Given the description of an element on the screen output the (x, y) to click on. 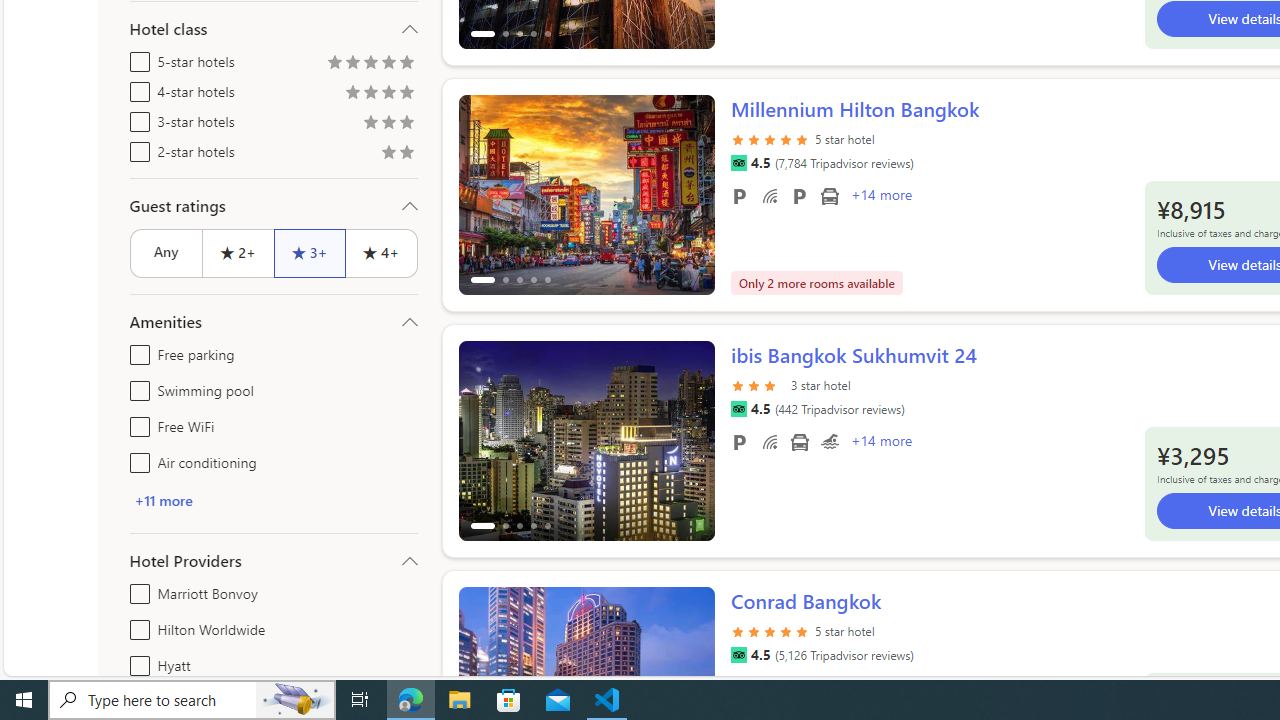
Amenities (273, 321)
star rating (770, 630)
